Given the description of an element on the screen output the (x, y) to click on. 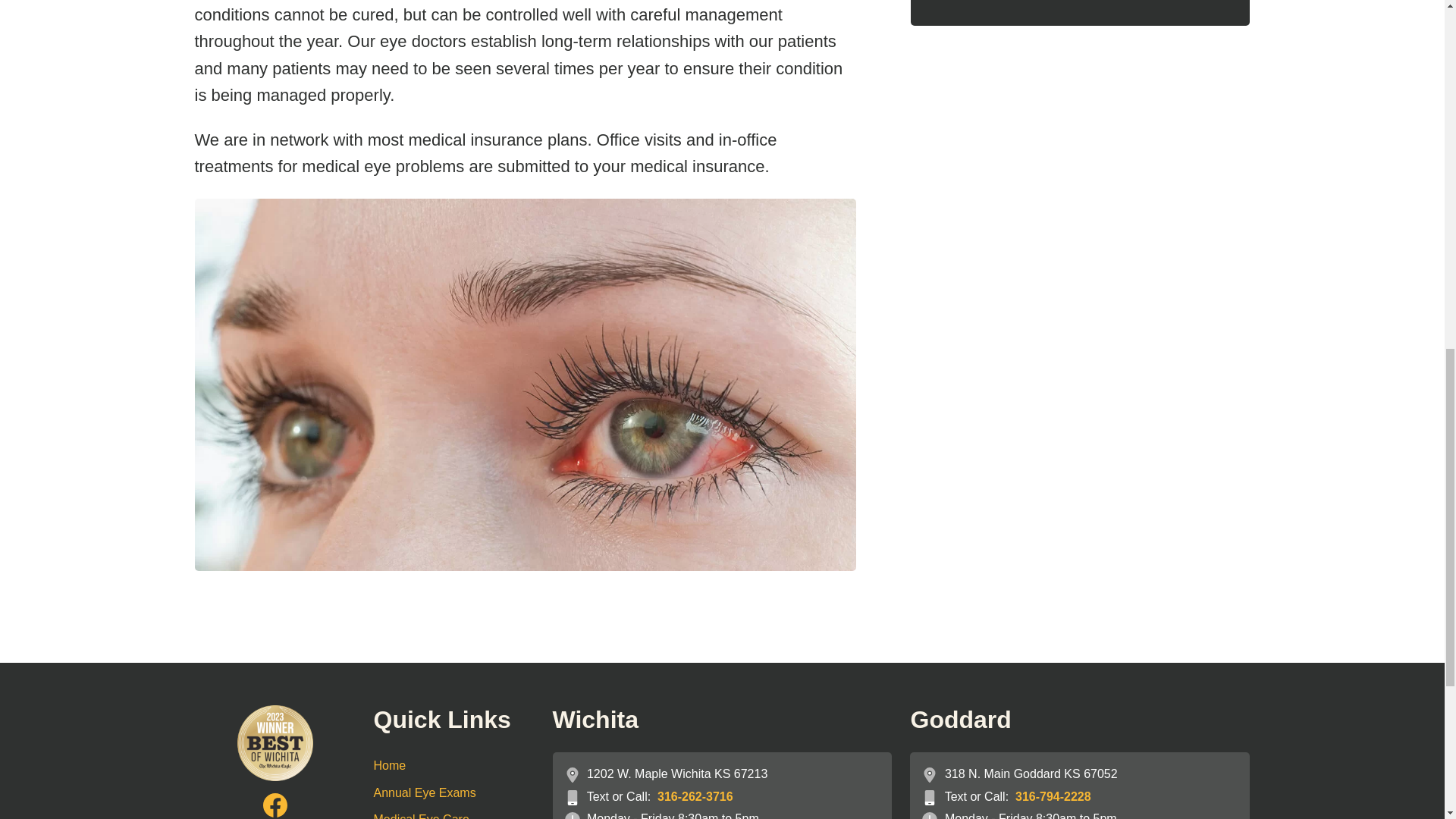
Medical Eye Care (453, 812)
Home (453, 765)
Visit Us on Facebook (274, 805)
Optical (1080, 2)
316-794-2228 (1052, 796)
Annual Eye Exams (453, 792)
316-262-3716 (695, 796)
